Given the description of an element on the screen output the (x, y) to click on. 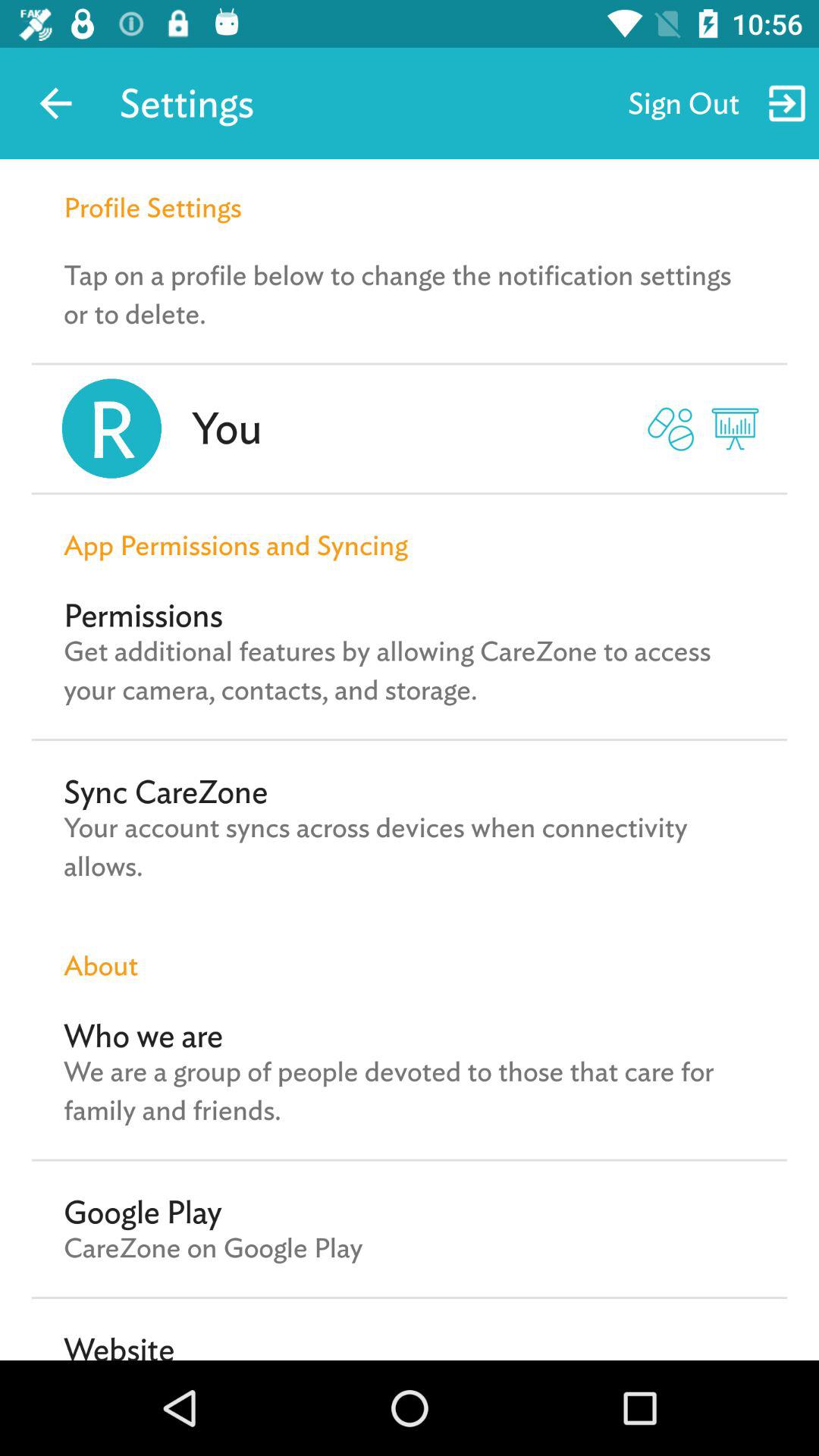
select the app to the left of settings icon (55, 103)
